Given the description of an element on the screen output the (x, y) to click on. 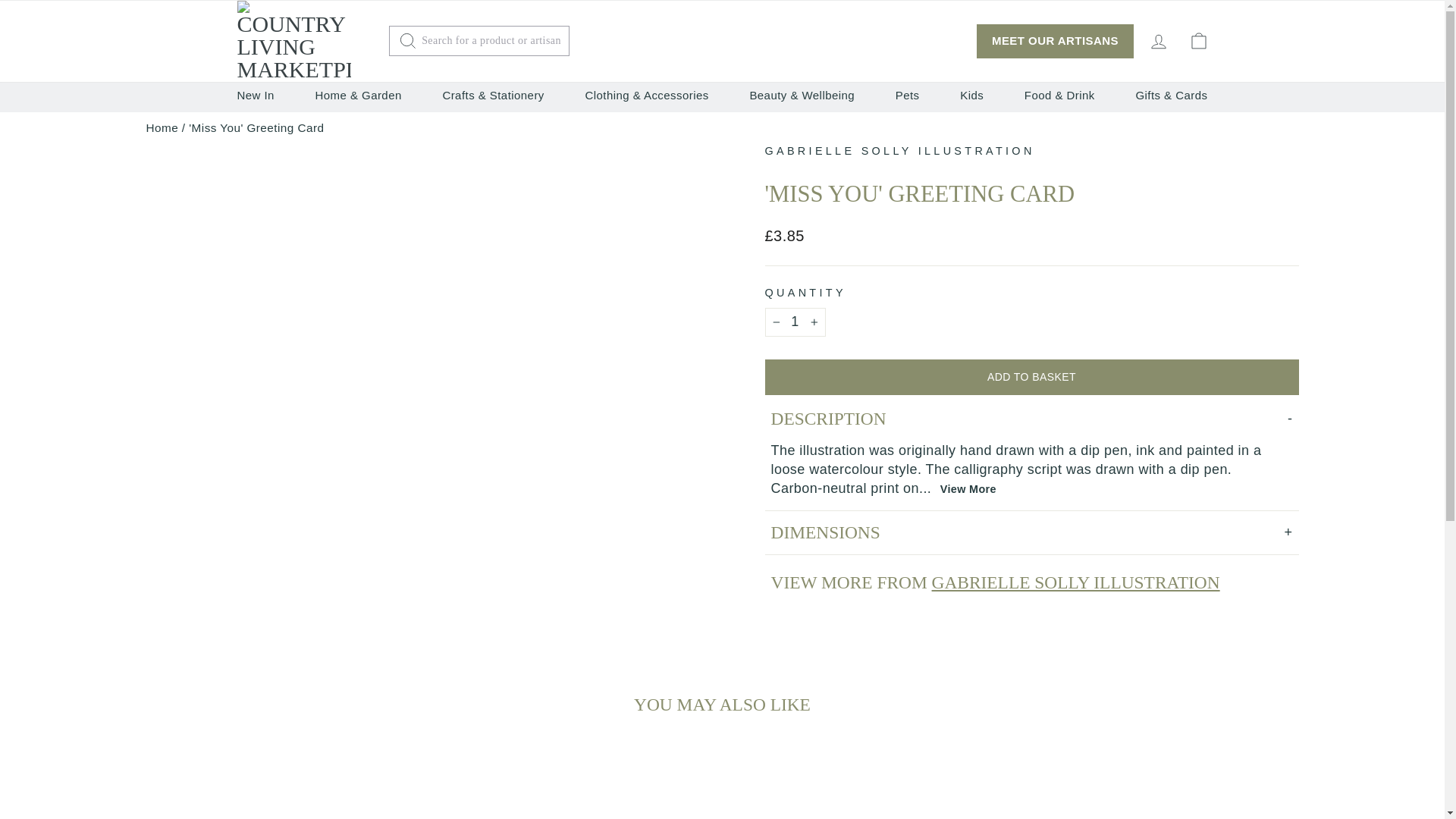
Gabrielle Solly Illustration (898, 150)
Back to the frontpage (161, 127)
1 (794, 321)
